Given the description of an element on the screen output the (x, y) to click on. 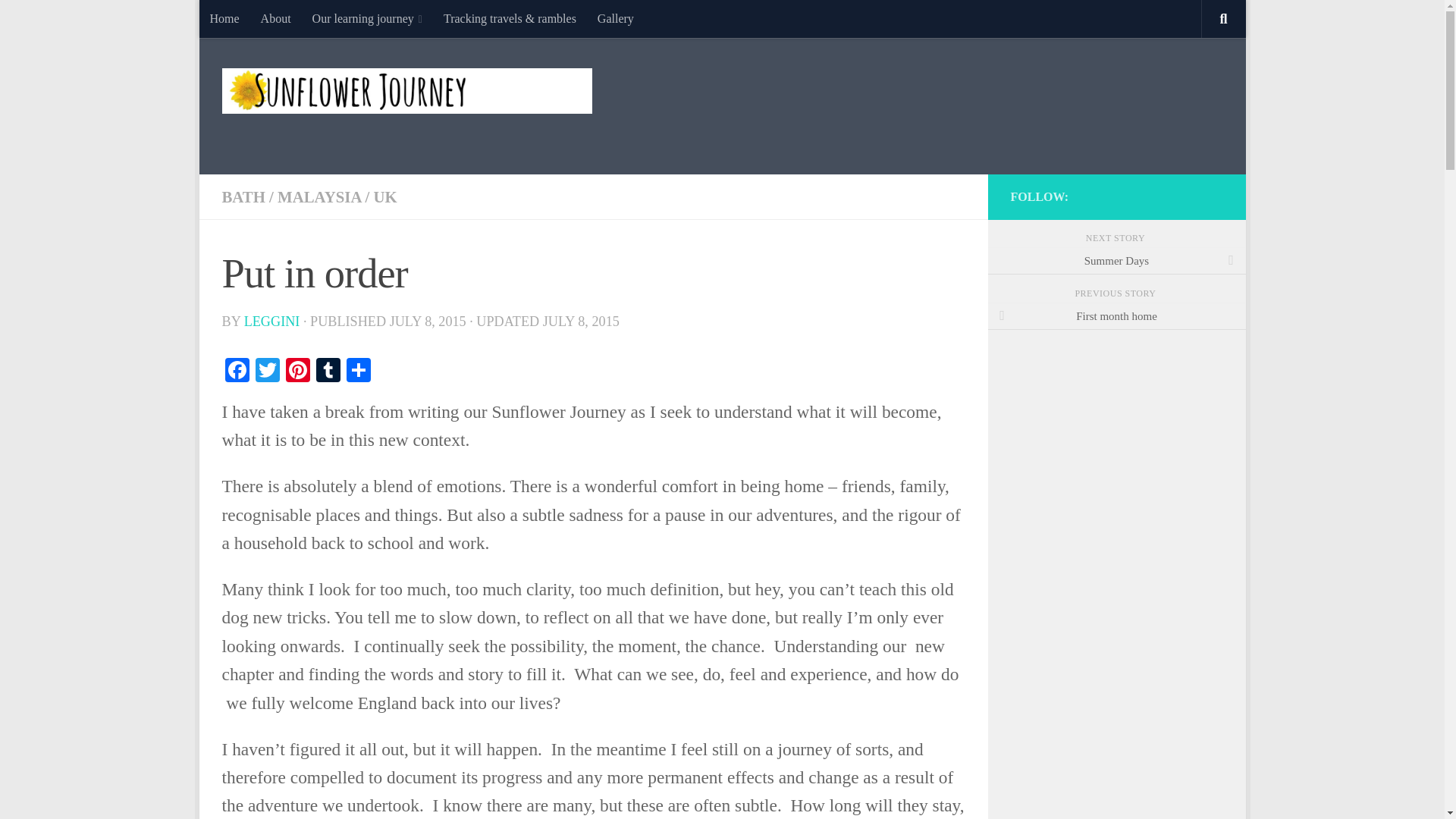
Twitter (266, 371)
MALAYSIA (319, 196)
Twitter (266, 371)
LEGGINI (271, 321)
Gallery (615, 18)
Facebook (236, 371)
Home (223, 18)
Our learning journey (366, 18)
UK (384, 196)
Pinterest (297, 371)
BATH (242, 196)
About (275, 18)
Pinterest (297, 371)
Share (357, 371)
Tumblr (327, 371)
